Given the description of an element on the screen output the (x, y) to click on. 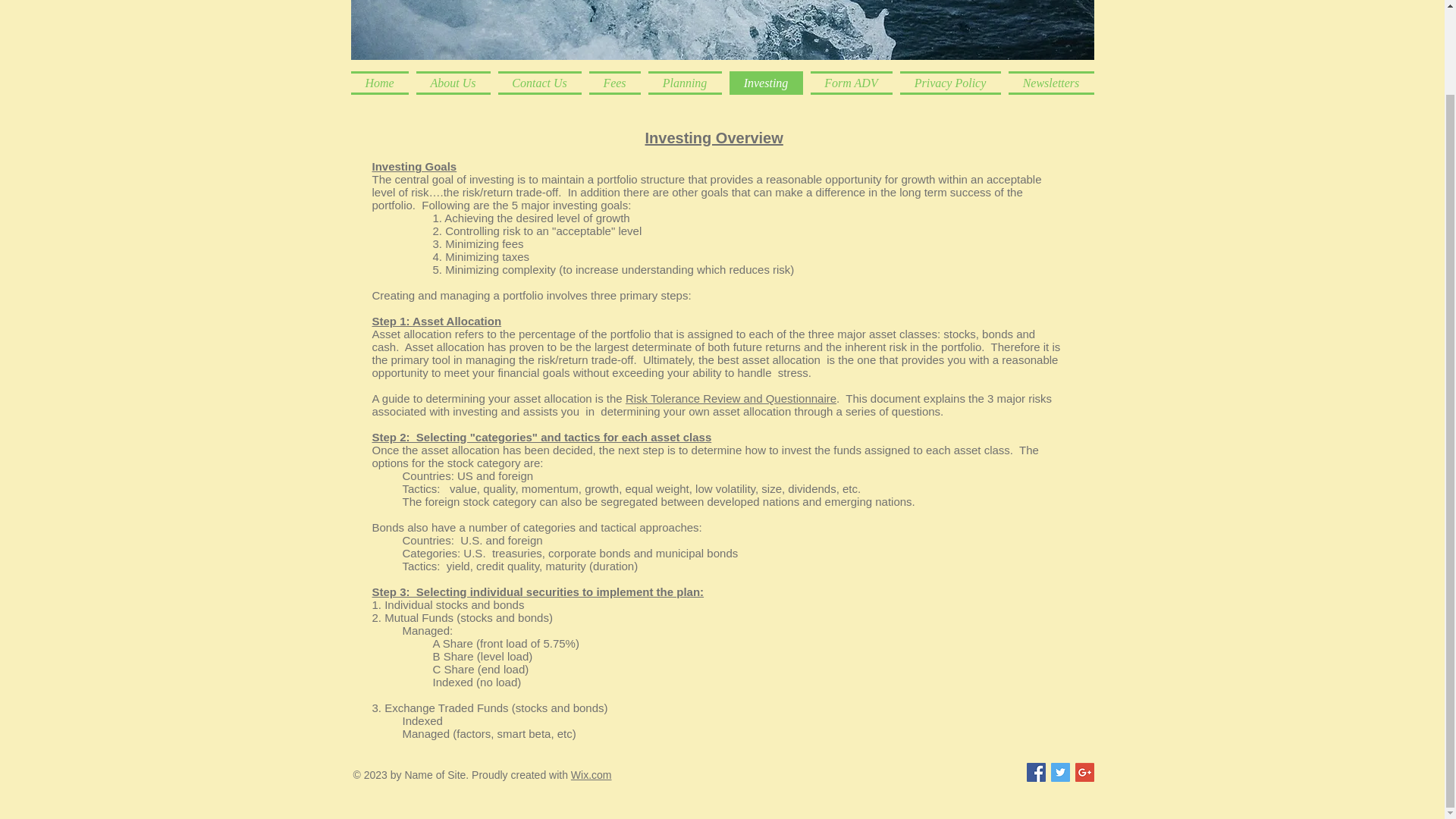
Fees (615, 83)
About Us (453, 83)
Investing (765, 83)
Newsletters (1048, 83)
Risk Tolerance Review and Questionnaire (730, 398)
Contact Us (540, 83)
Home (381, 83)
Privacy Policy (950, 83)
Wix.com (590, 775)
Planning (685, 83)
Form ADV (851, 83)
